Given the description of an element on the screen output the (x, y) to click on. 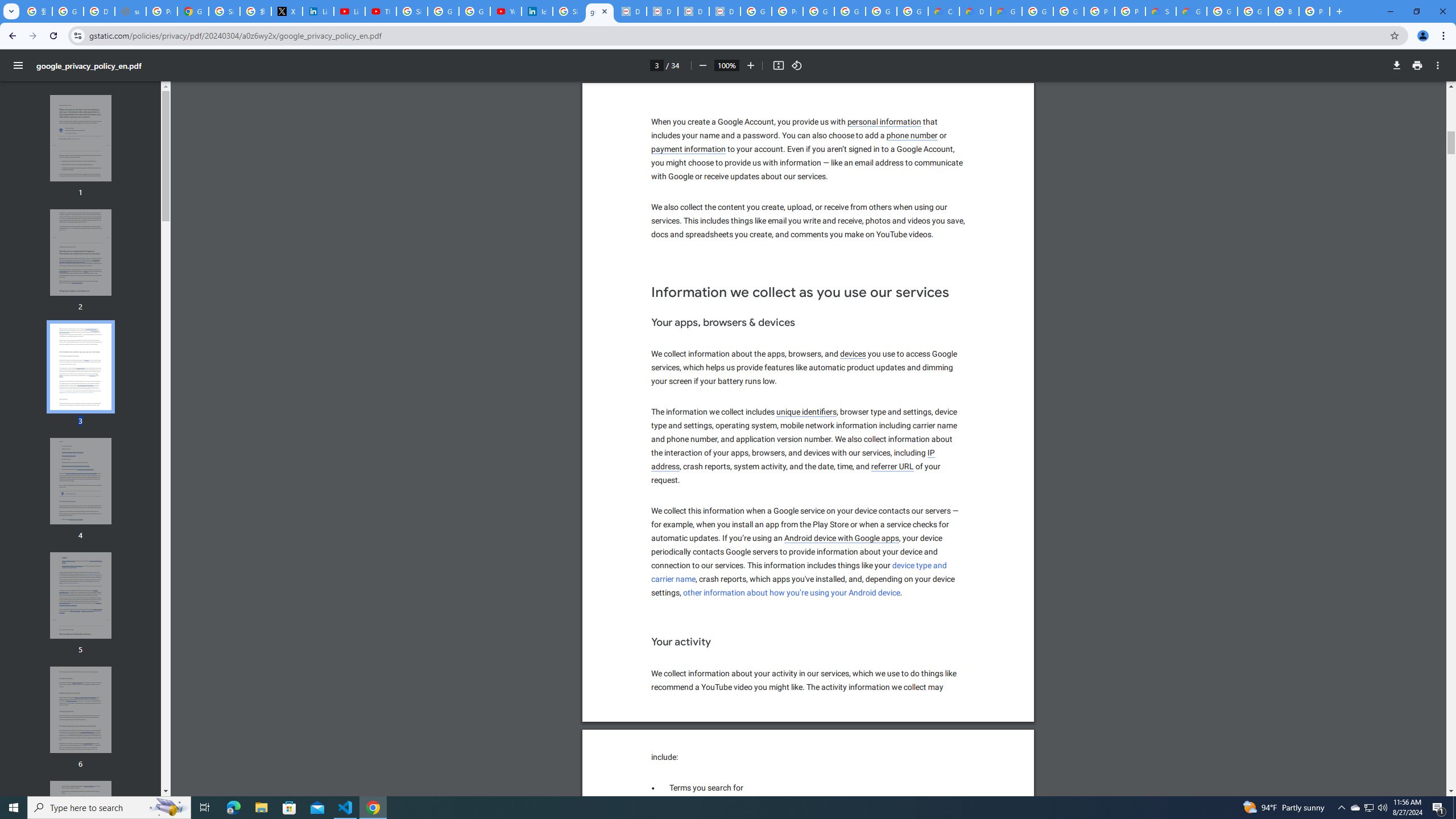
More actions (1437, 65)
Thumbnail for page 4 (80, 481)
Sign in - Google Accounts (411, 11)
Customer Care | Google Cloud (943, 11)
X (286, 11)
